Given the description of an element on the screen output the (x, y) to click on. 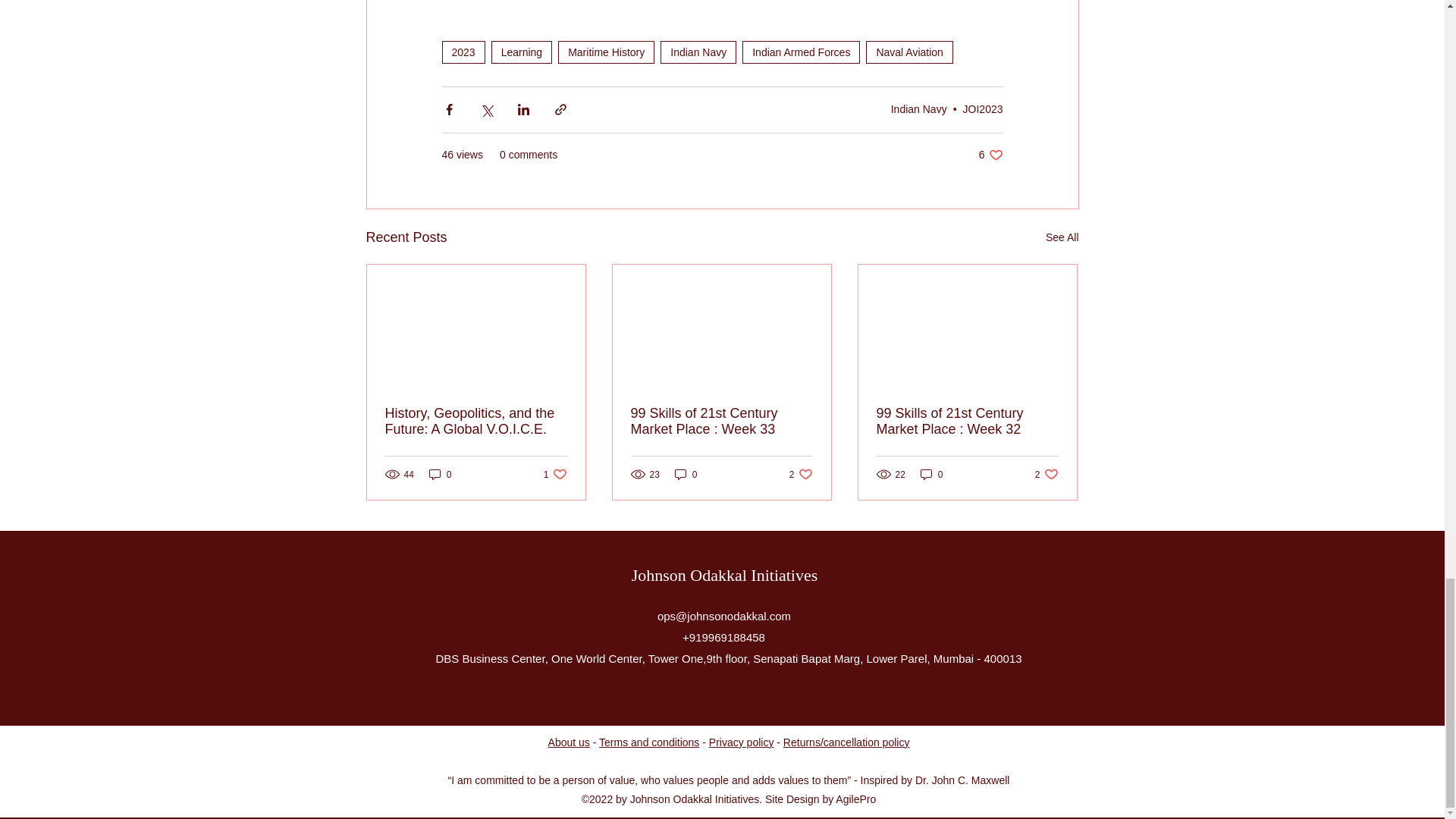
2023 (462, 51)
Indian Navy (698, 51)
Indian Armed Forces (801, 51)
Maritime History (605, 51)
Learning (522, 51)
